Given the description of an element on the screen output the (x, y) to click on. 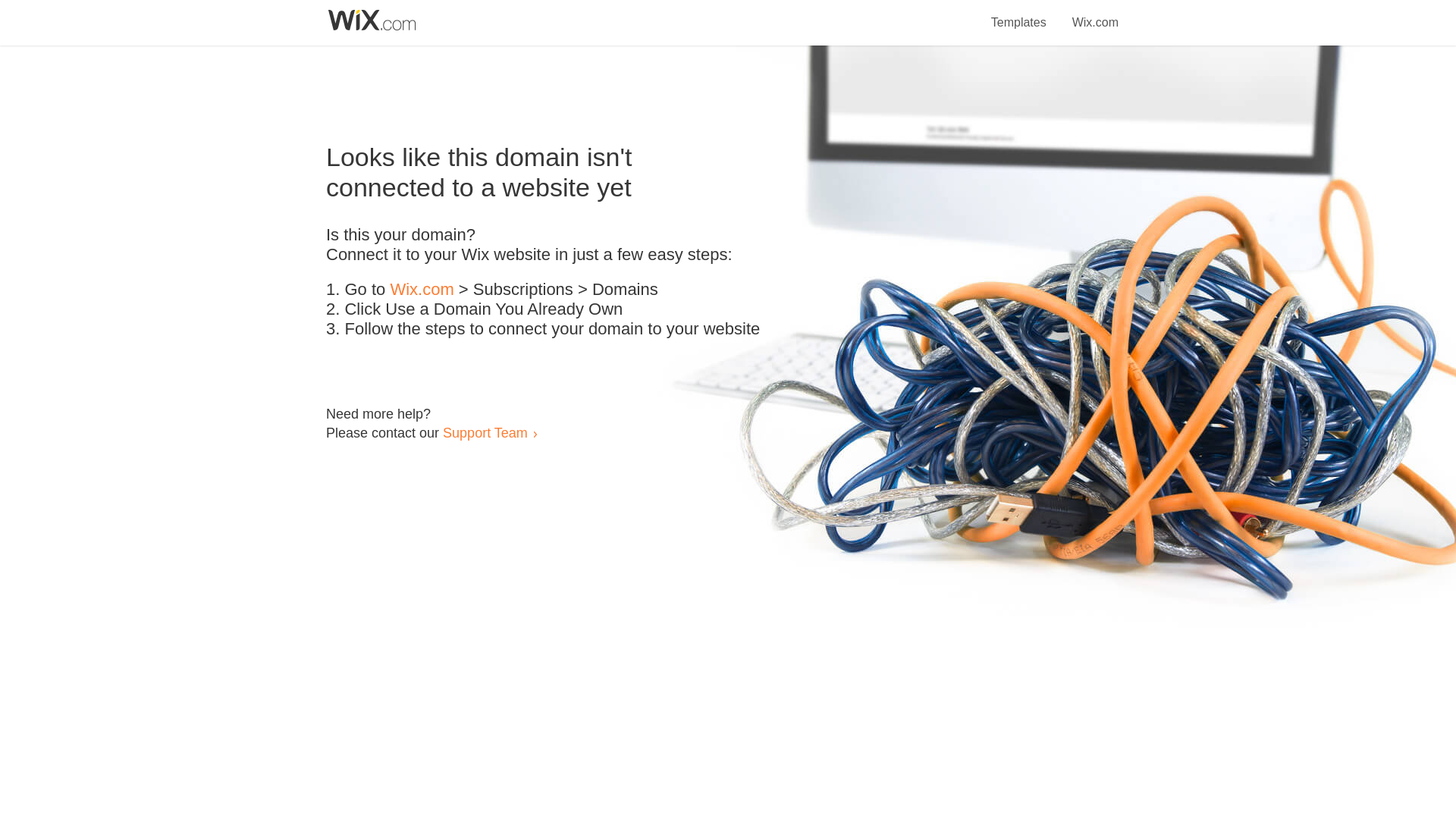
Support Team (484, 432)
Templates (1018, 14)
Wix.com (421, 289)
Wix.com (1095, 14)
